Given the description of an element on the screen output the (x, y) to click on. 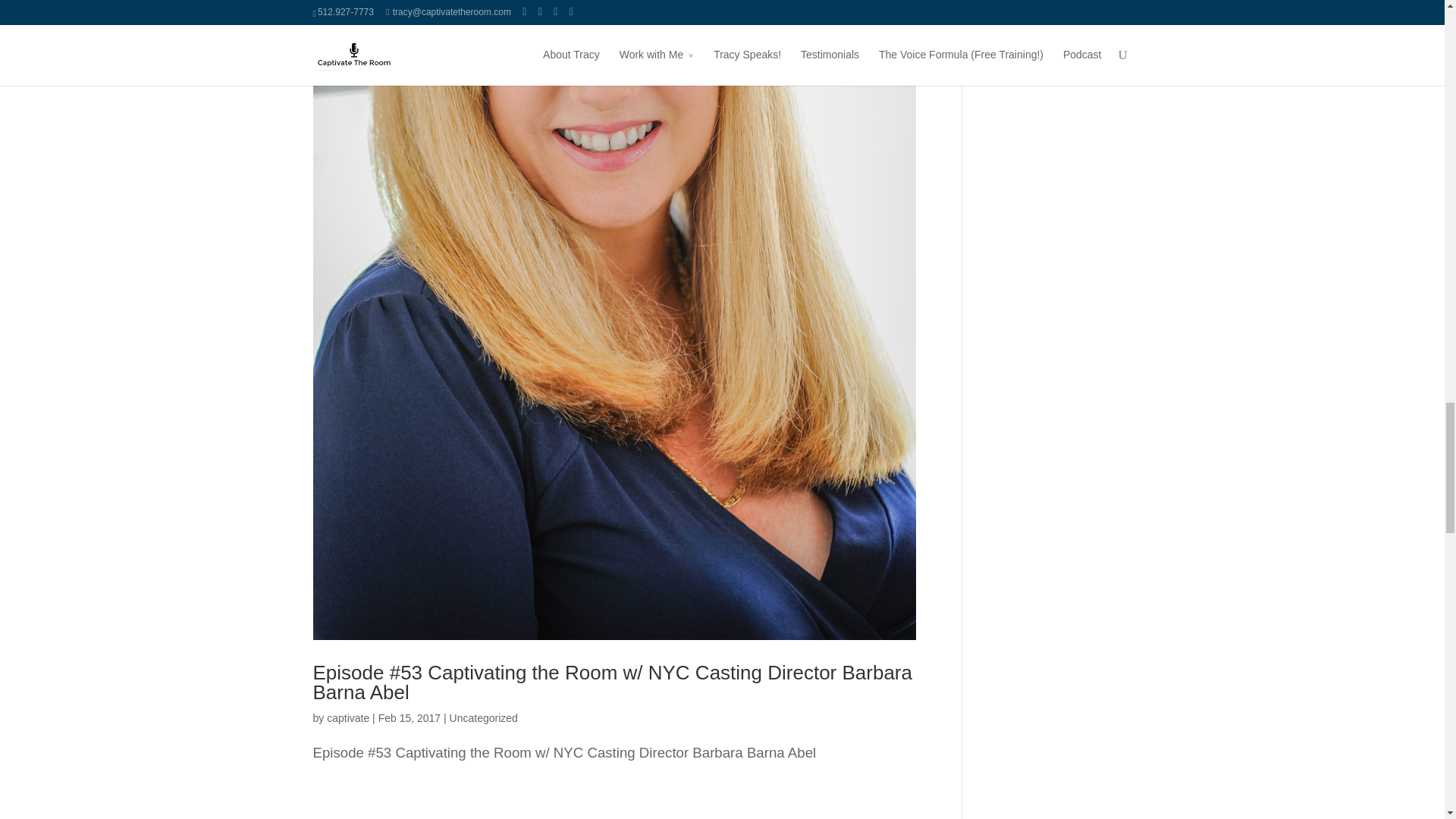
captivate (347, 717)
Uncategorized (483, 717)
Posts by captivate (347, 717)
